Given the description of an element on the screen output the (x, y) to click on. 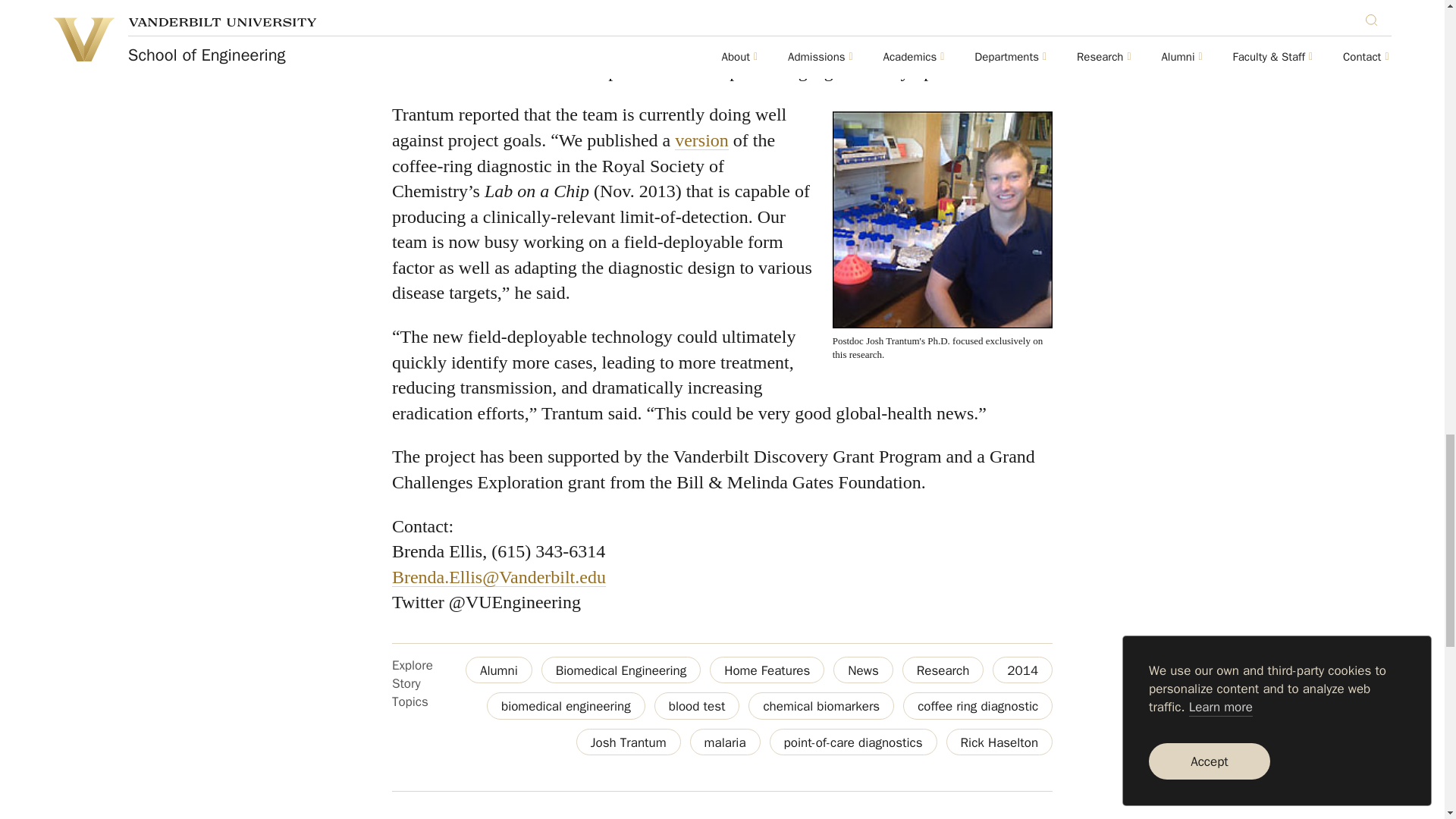
Lab on a Chip (702, 139)
